Given the description of an element on the screen output the (x, y) to click on. 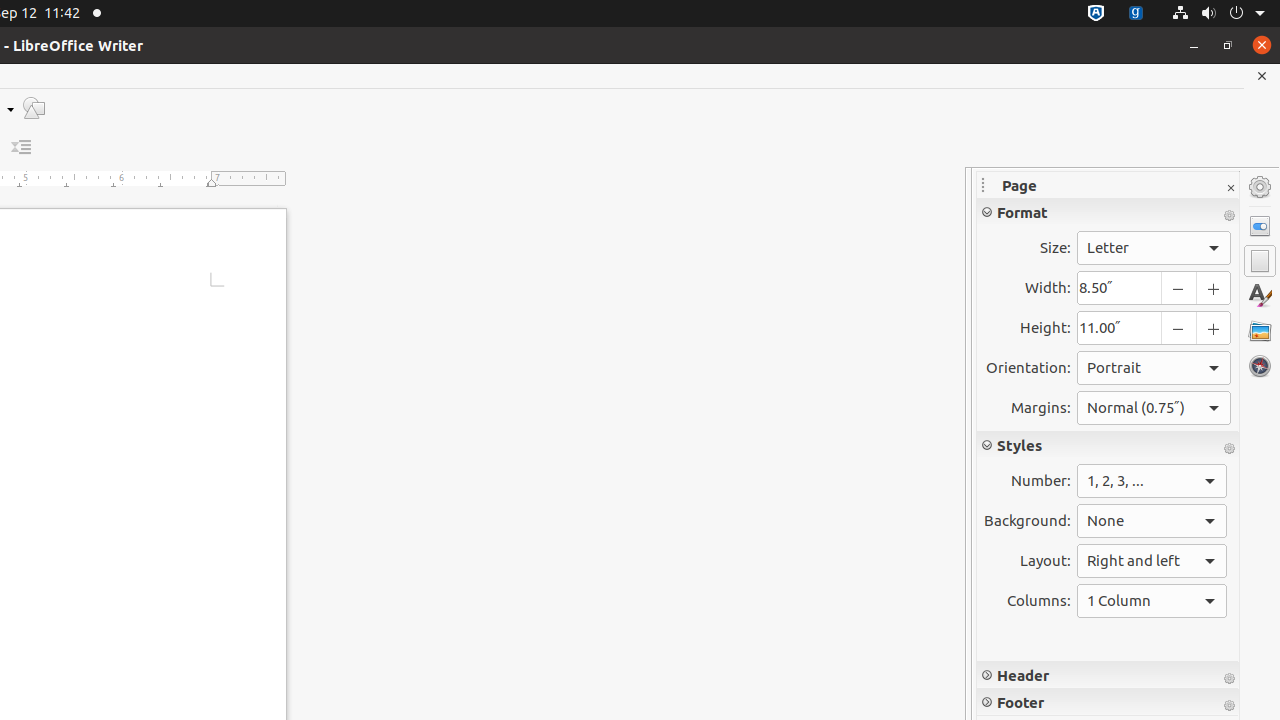
System Element type: menu (1218, 13)
Gallery Element type: radio-button (1260, 331)
Draw Functions Element type: push-button (33, 108)
Properties Element type: radio-button (1260, 226)
Background: Element type: combo-box (1152, 520)
